Given the description of an element on the screen output the (x, y) to click on. 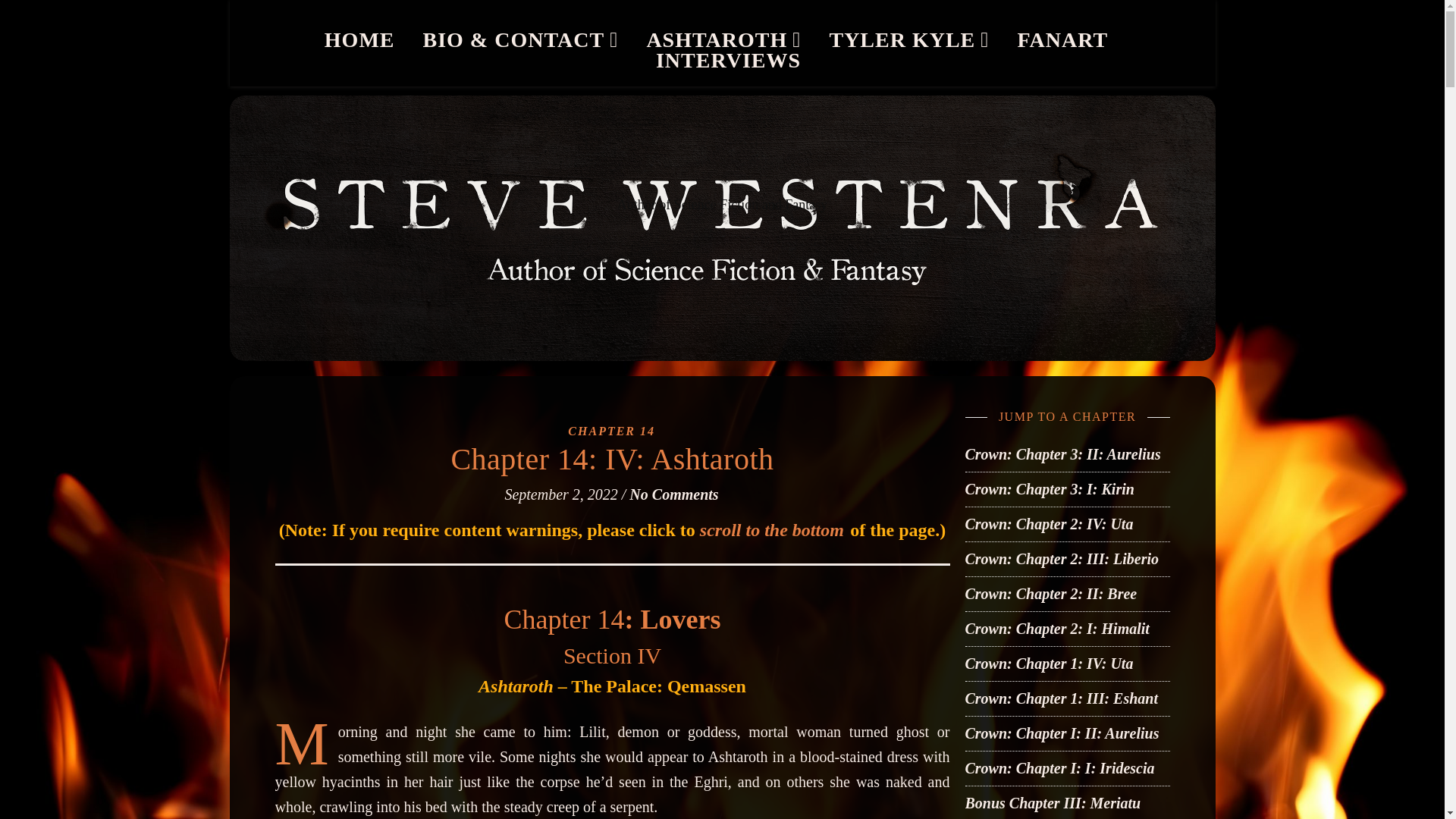
TYLER KYLE (908, 39)
INTERVIEWS (721, 59)
HOME (365, 39)
FANART (1063, 39)
ASHTAROTH (722, 39)
